Given the description of an element on the screen output the (x, y) to click on. 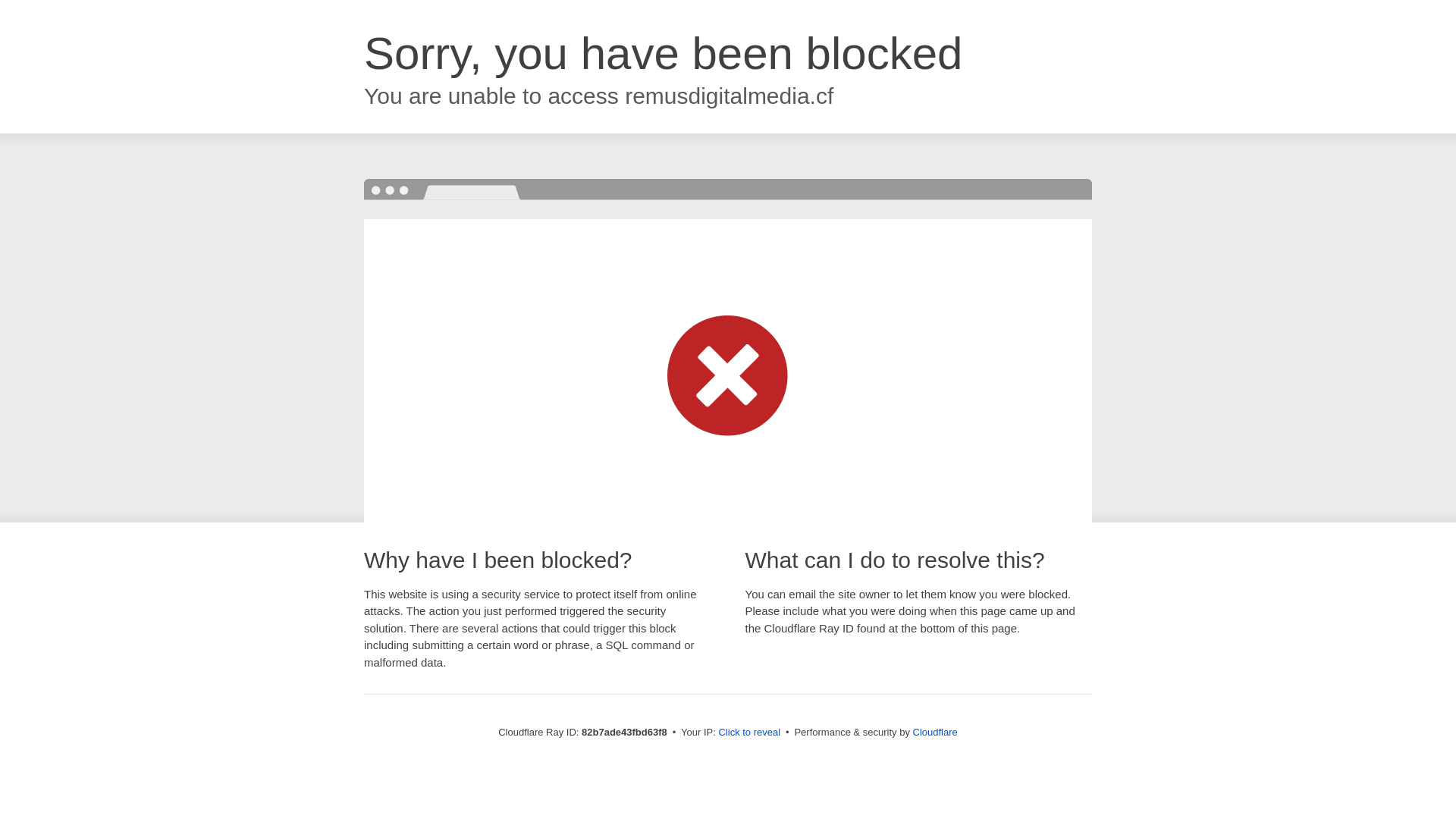
Click to reveal Element type: text (749, 732)
Cloudflare Element type: text (935, 731)
